Given the description of an element on the screen output the (x, y) to click on. 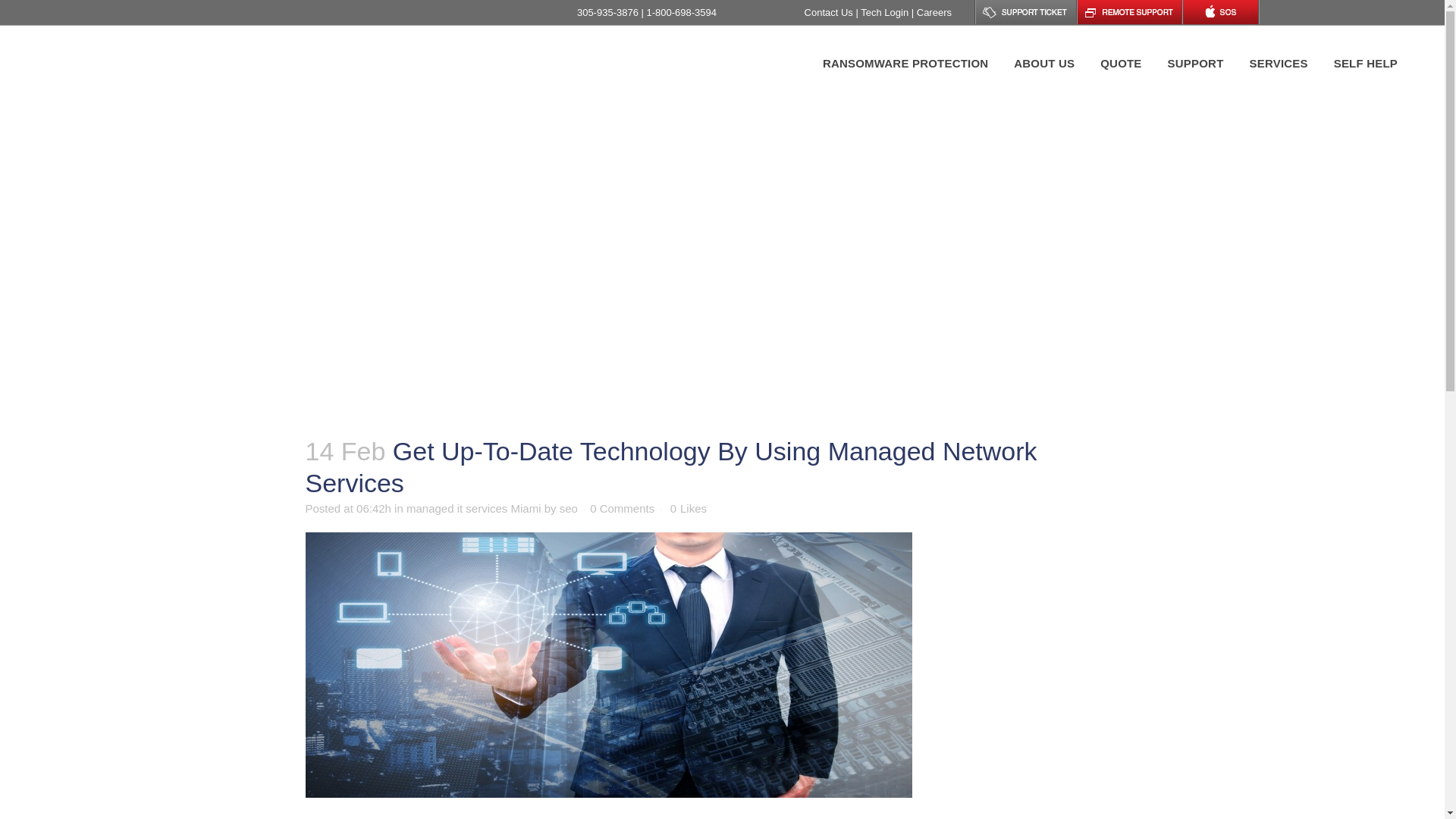
SUPPORT (1195, 63)
RANSOMWARE PROTECTION (905, 63)
SERVICES (1278, 63)
Careers (934, 12)
SELF HELP (1365, 63)
Tech Login (885, 12)
Contact Us (830, 12)
ABOUT US (1044, 63)
Submit Support Ticket (1195, 63)
Like this (687, 508)
